Given the description of an element on the screen output the (x, y) to click on. 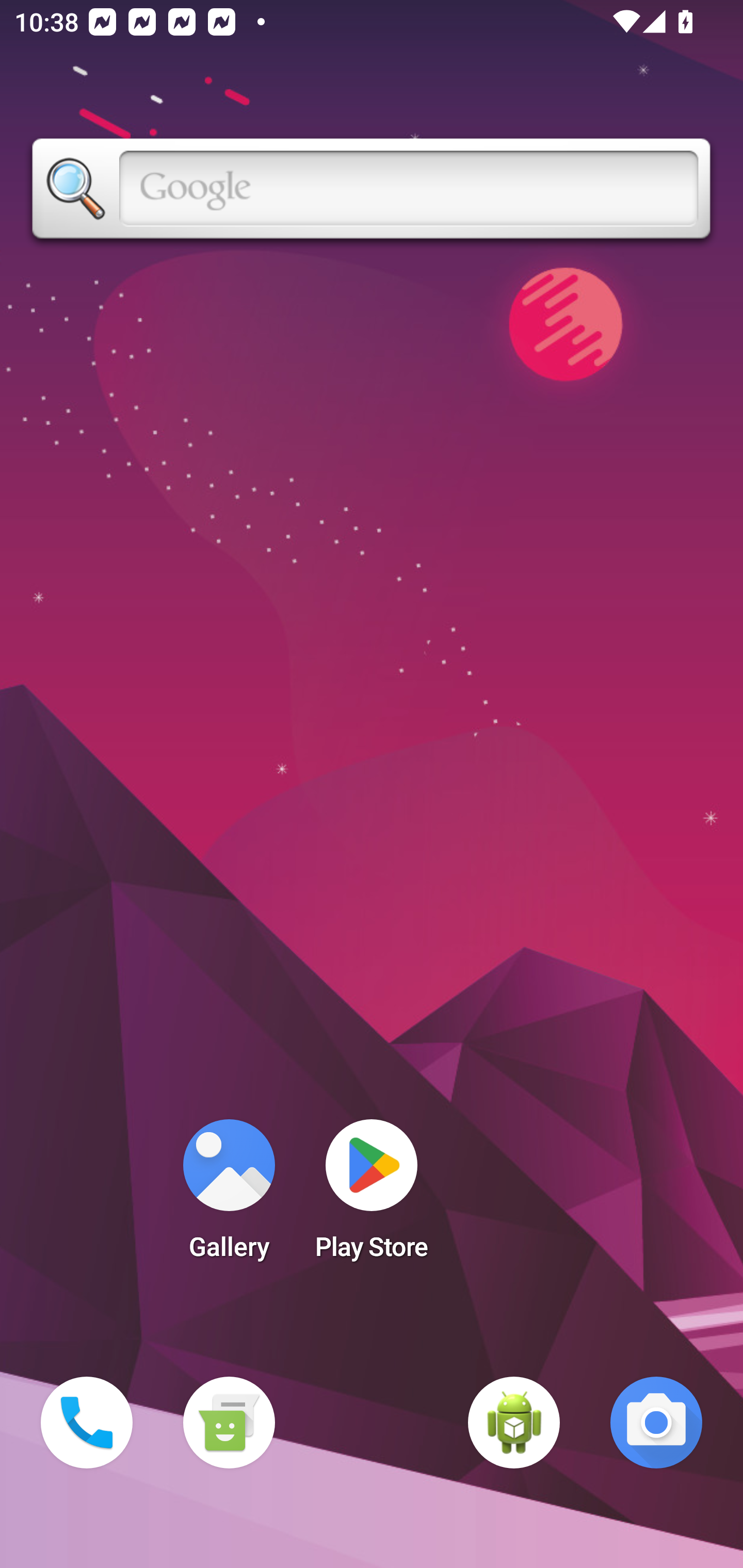
Gallery (228, 1195)
Play Store (371, 1195)
Phone (86, 1422)
Messaging (228, 1422)
WebView Browser Tester (513, 1422)
Camera (656, 1422)
